Given the description of an element on the screen output the (x, y) to click on. 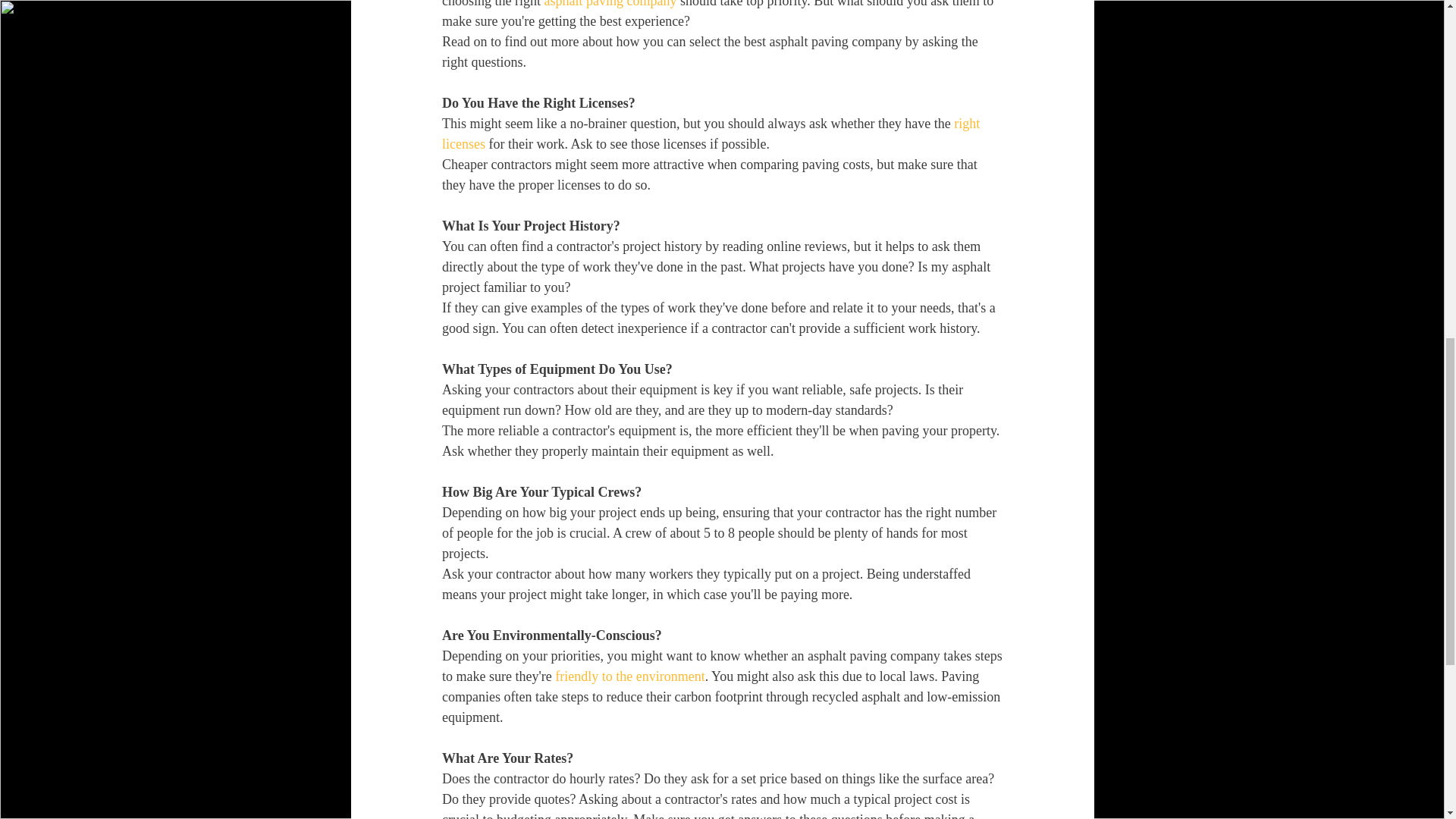
right licenses (711, 133)
asphalt paving company (610, 4)
friendly to the environment (629, 676)
